Given the description of an element on the screen output the (x, y) to click on. 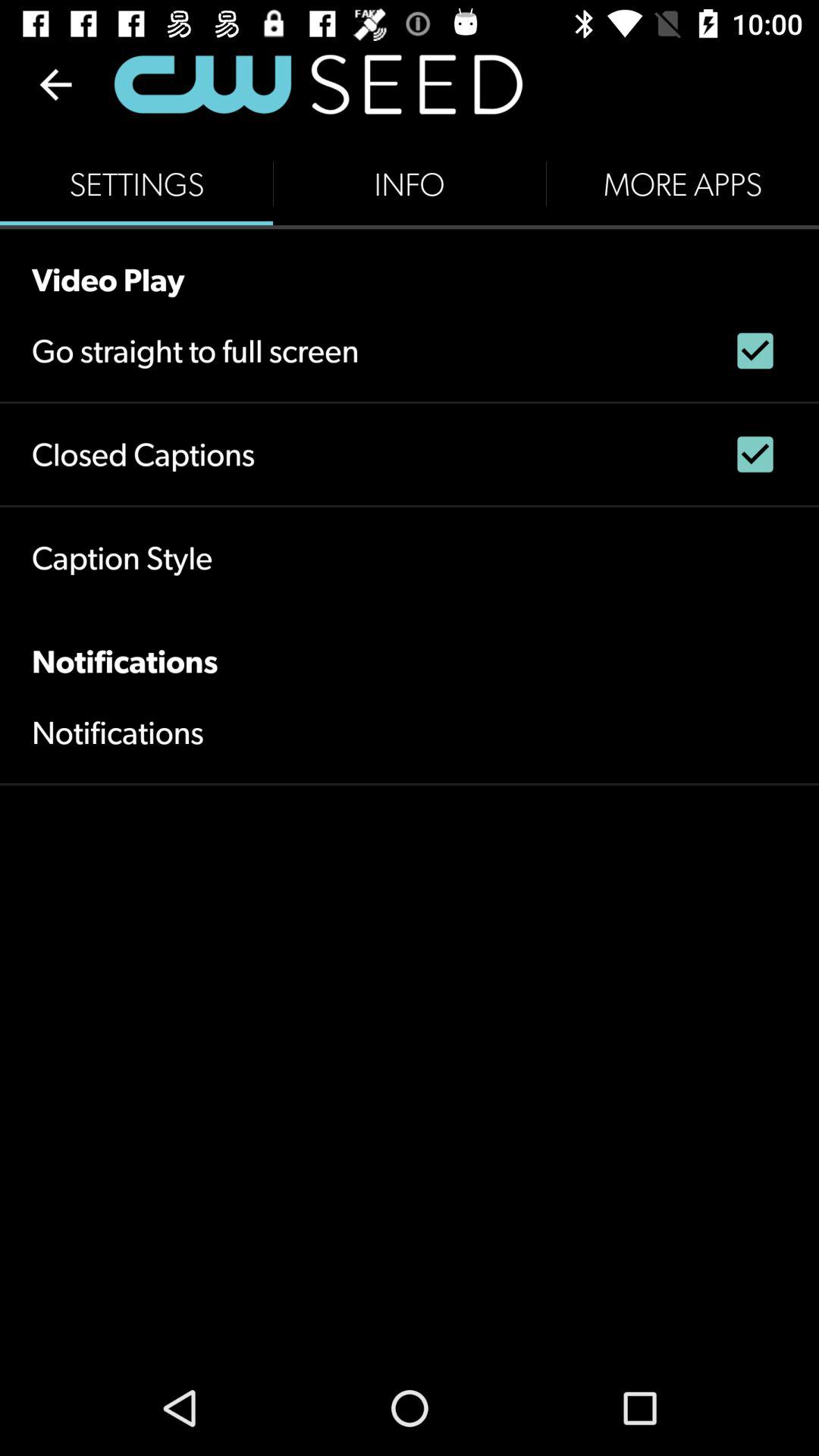
turn off the item above video play icon (409, 184)
